Given the description of an element on the screen output the (x, y) to click on. 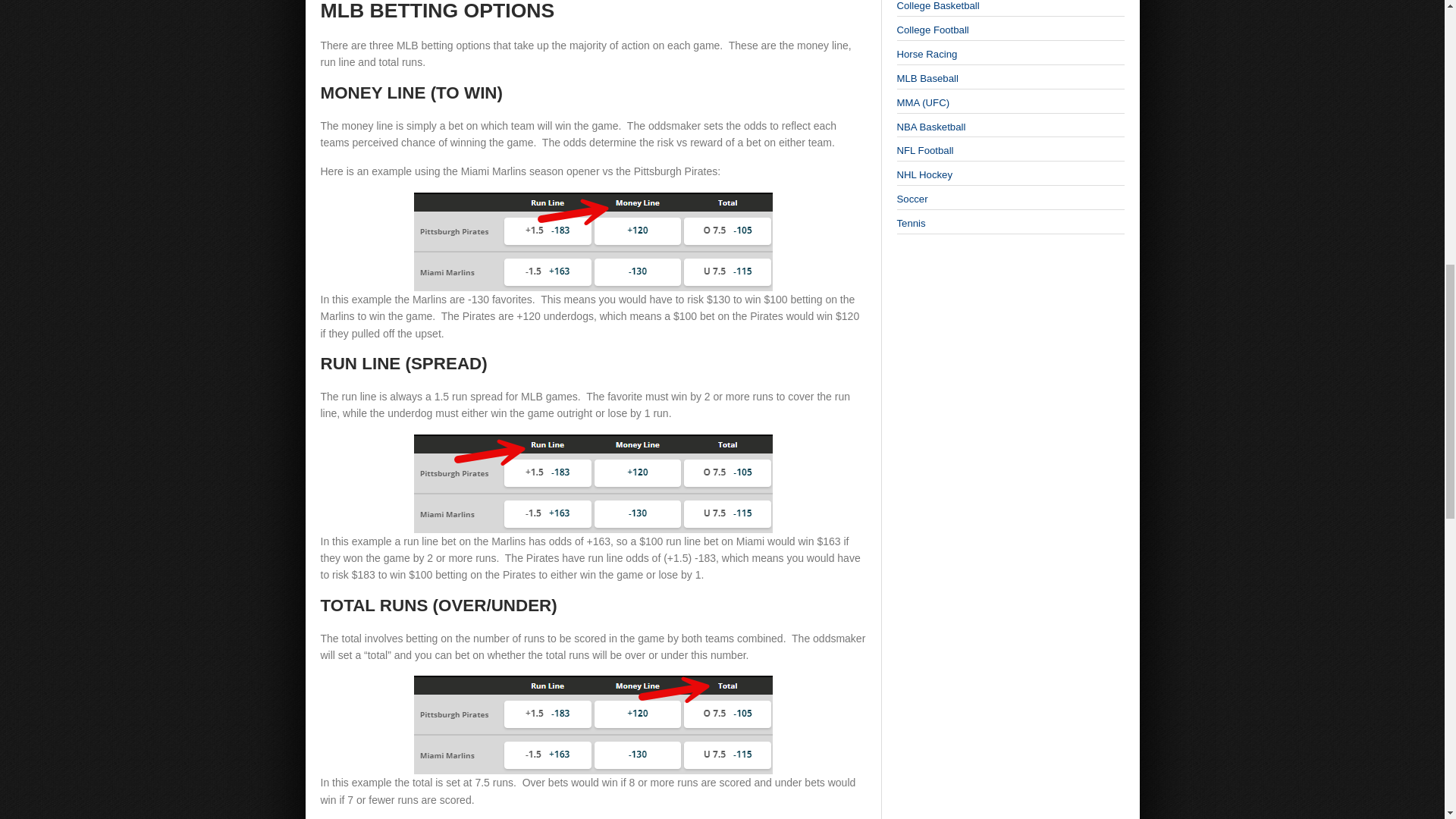
Horse Race Betting (926, 53)
NCAA Basketball Betting (937, 5)
NHL Betting (924, 174)
NFL Betting (924, 150)
NBA Betting (930, 126)
MLB Betting (927, 78)
MMA Betting (922, 102)
NCAA Football Betting (932, 30)
